Given the description of an element on the screen output the (x, y) to click on. 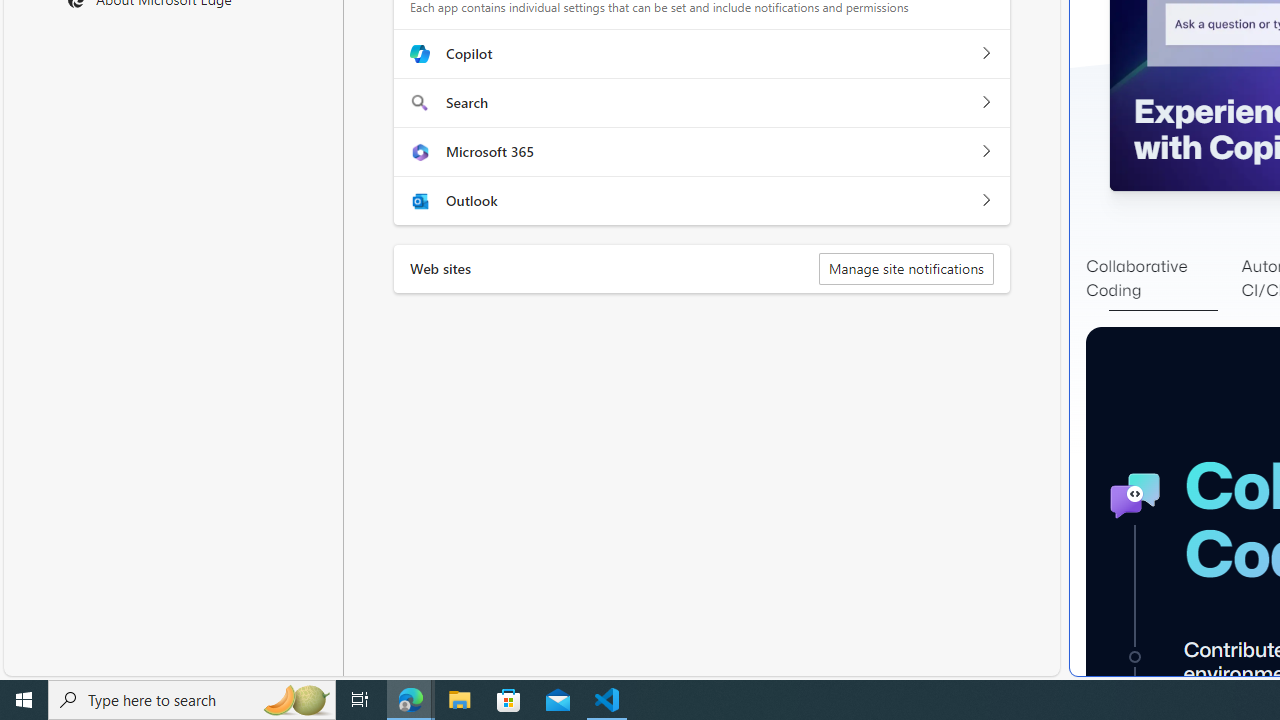
File Explorer (460, 699)
